Given the description of an element on the screen output the (x, y) to click on. 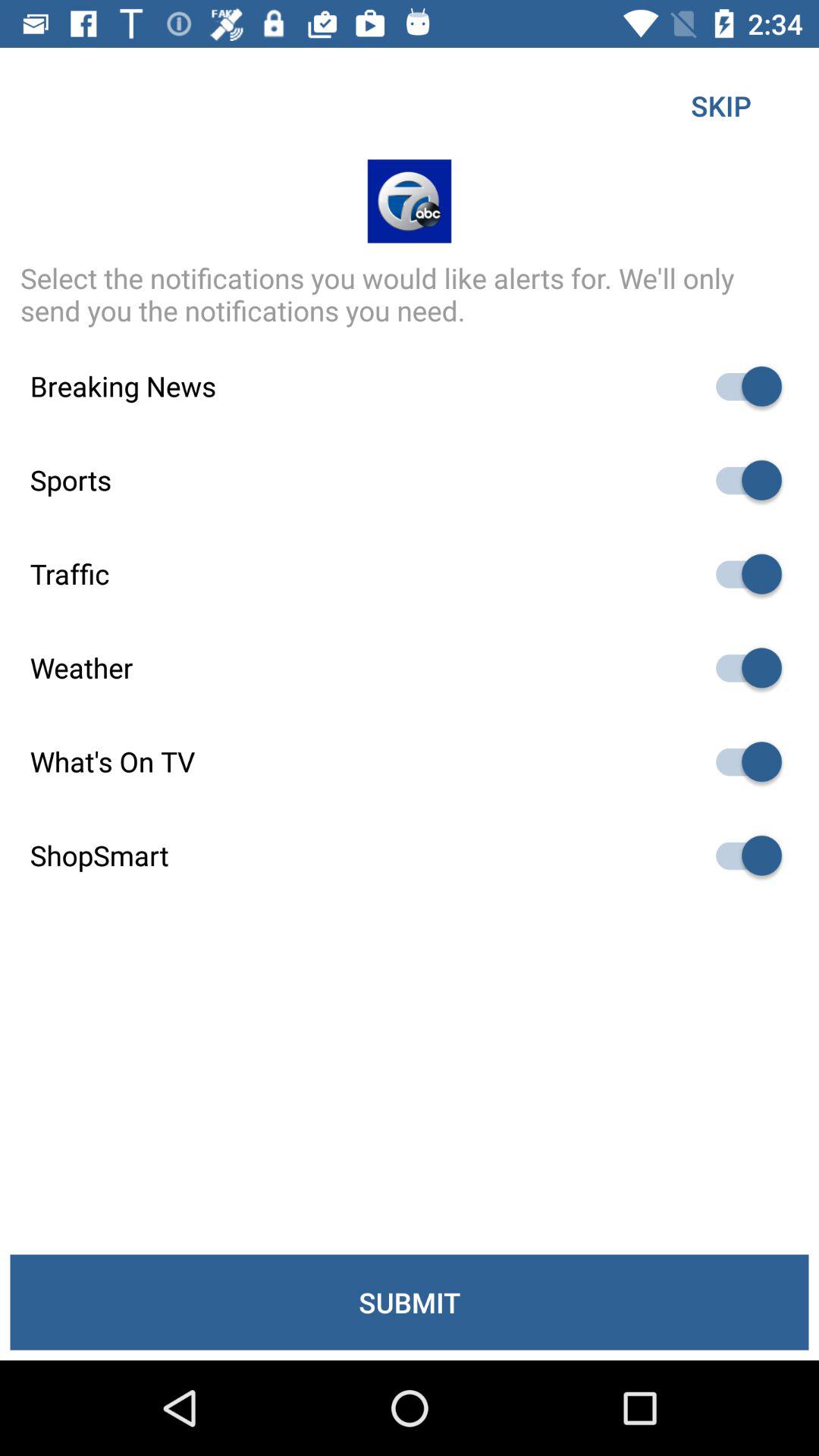
switch on shopsmart notification (741, 855)
